Given the description of an element on the screen output the (x, y) to click on. 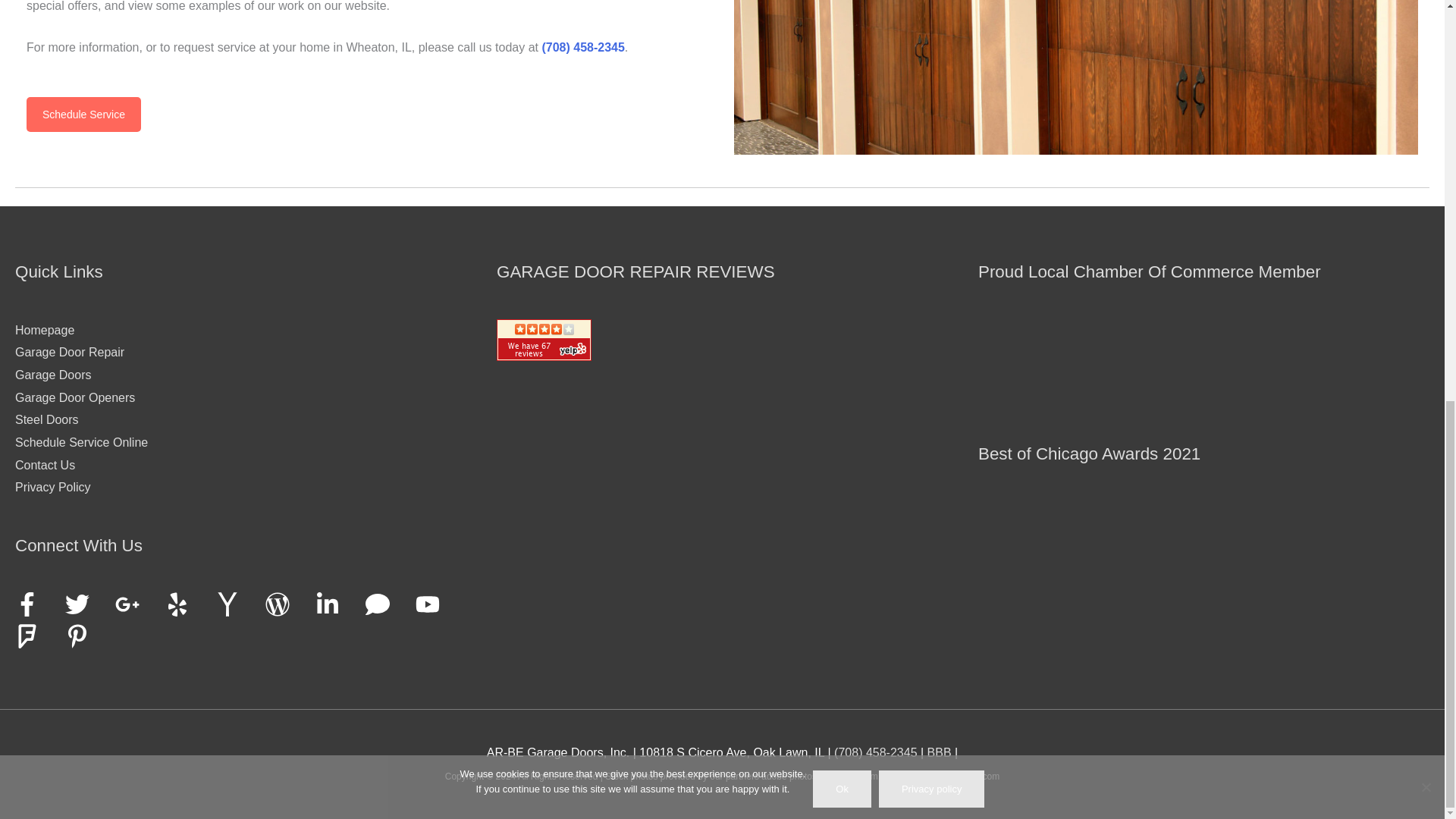
No (1425, 5)
Read AR-BE Garage Door Reviews On Google (571, 439)
ARBE Garage Doors, Inc., Overhead Garage Doors, Oak Lawn, IL (939, 752)
Schedule Service (83, 114)
Bedford Park IL Garage Door Chicago (1075, 77)
